Given the description of an element on the screen output the (x, y) to click on. 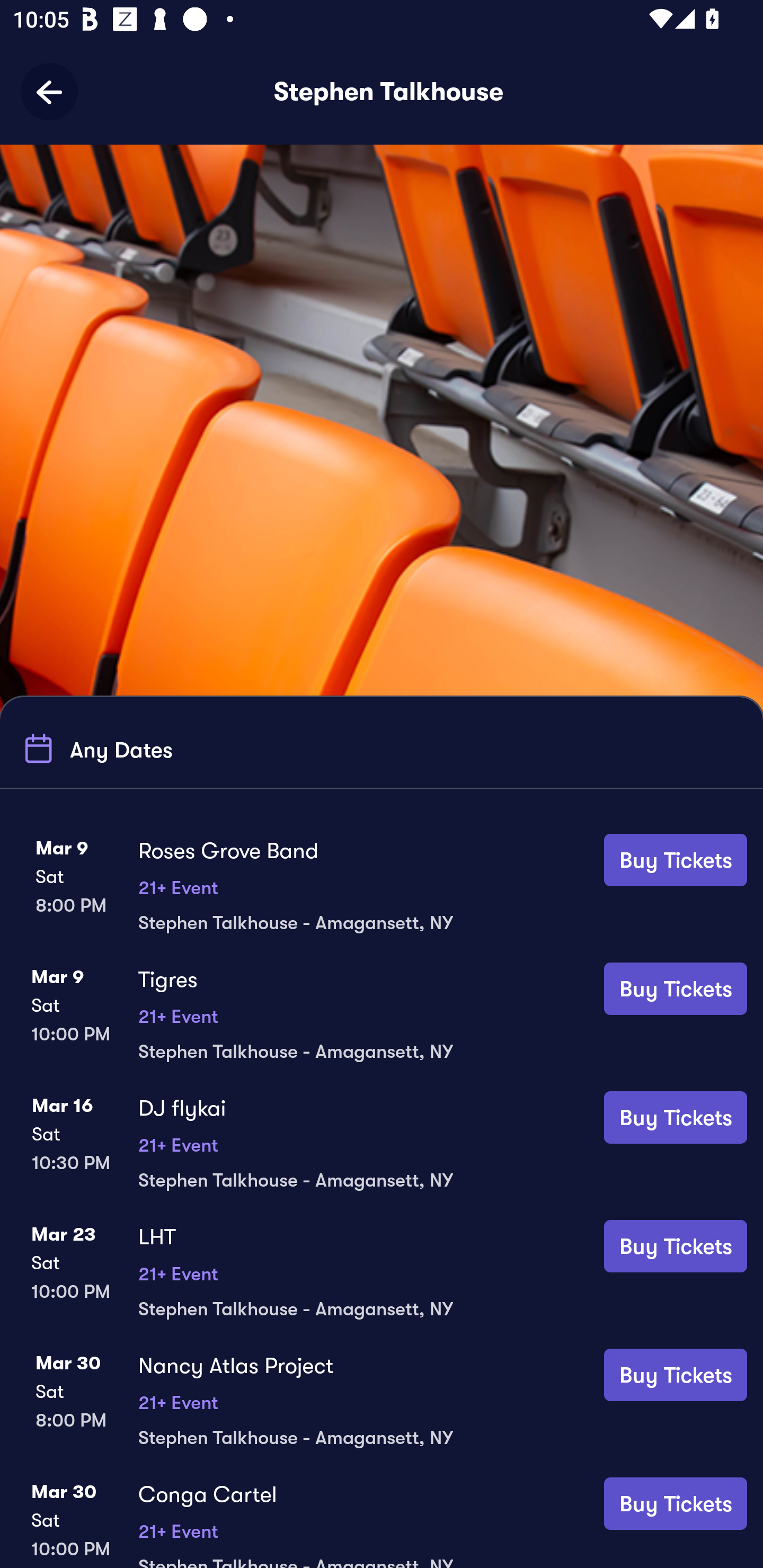
Any Dates (95, 749)
